Given the description of an element on the screen output the (x, y) to click on. 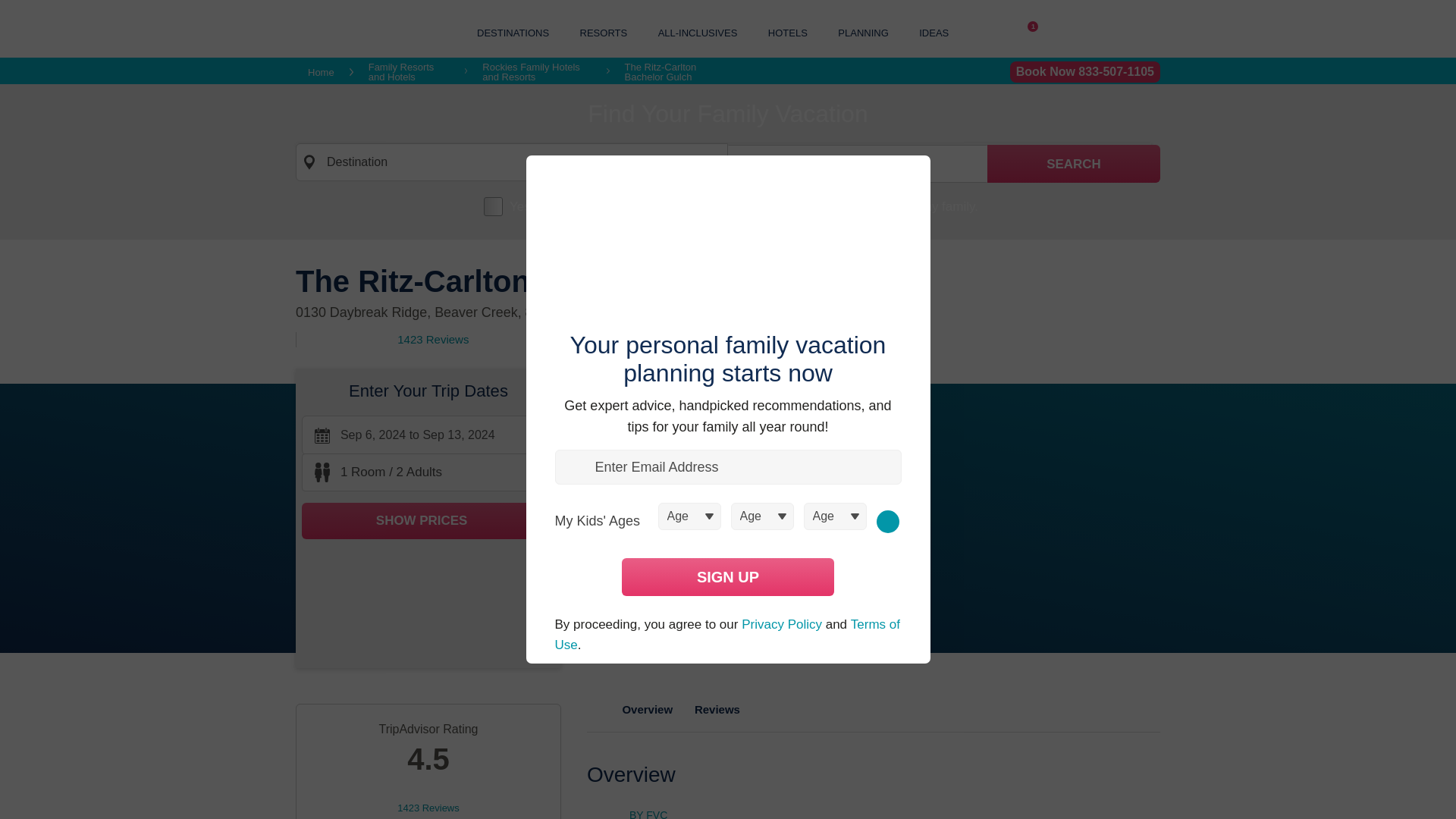
Search (1073, 163)
Sep 6, 2024 to Sep 13, 2024 (427, 435)
ALL-INCLUSIVES (698, 32)
1423 Reviews (432, 339)
Sign Up (727, 576)
Rockies Family Hotels and Resorts (536, 71)
Visit Family Vacation Critic on Instagram! (998, 32)
SHOW PRICES (427, 520)
HOTELS (788, 32)
Book Now 833-507-1105 (1085, 71)
